Given the description of an element on the screen output the (x, y) to click on. 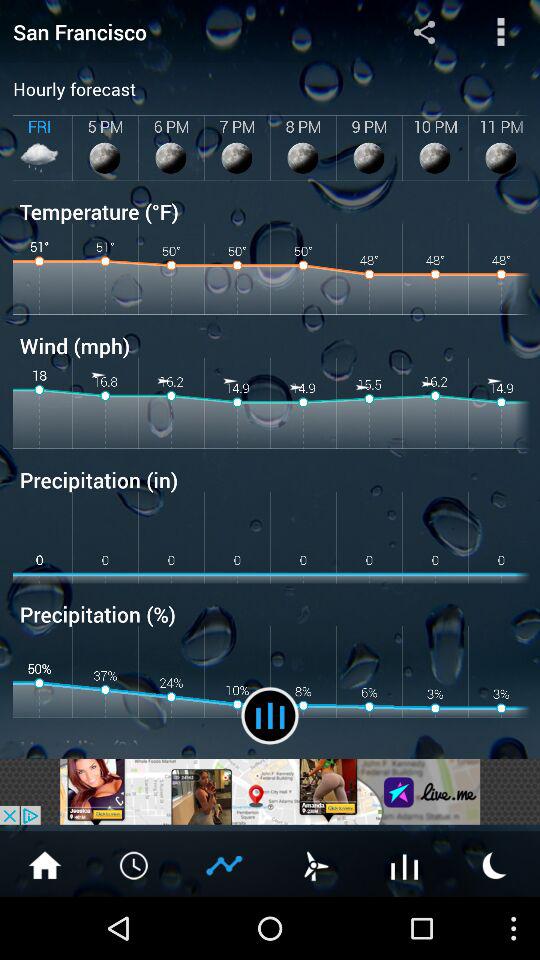
go to homepage (45, 864)
